Given the description of an element on the screen output the (x, y) to click on. 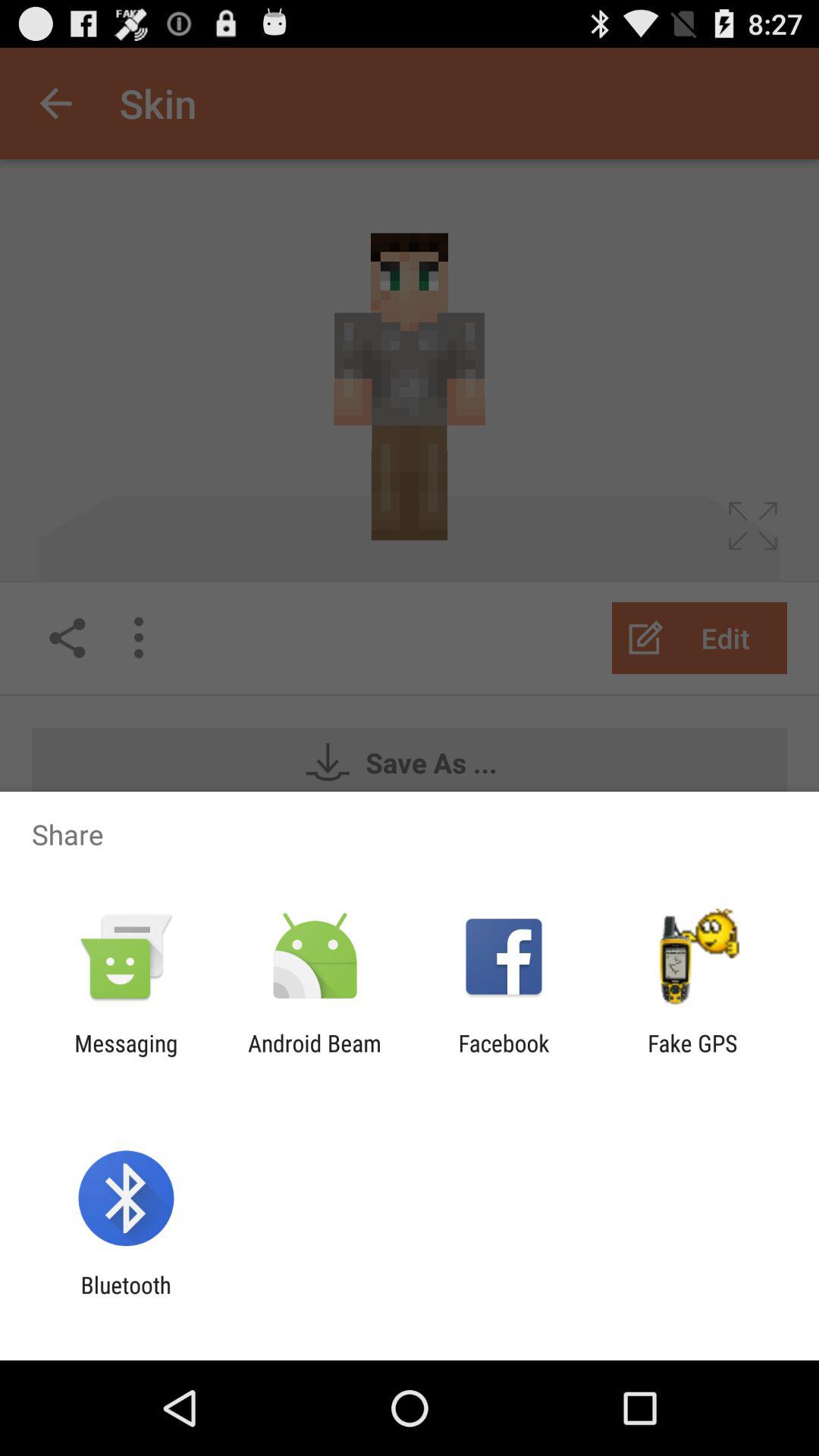
click the app to the right of the facebook app (692, 1056)
